Given the description of an element on the screen output the (x, y) to click on. 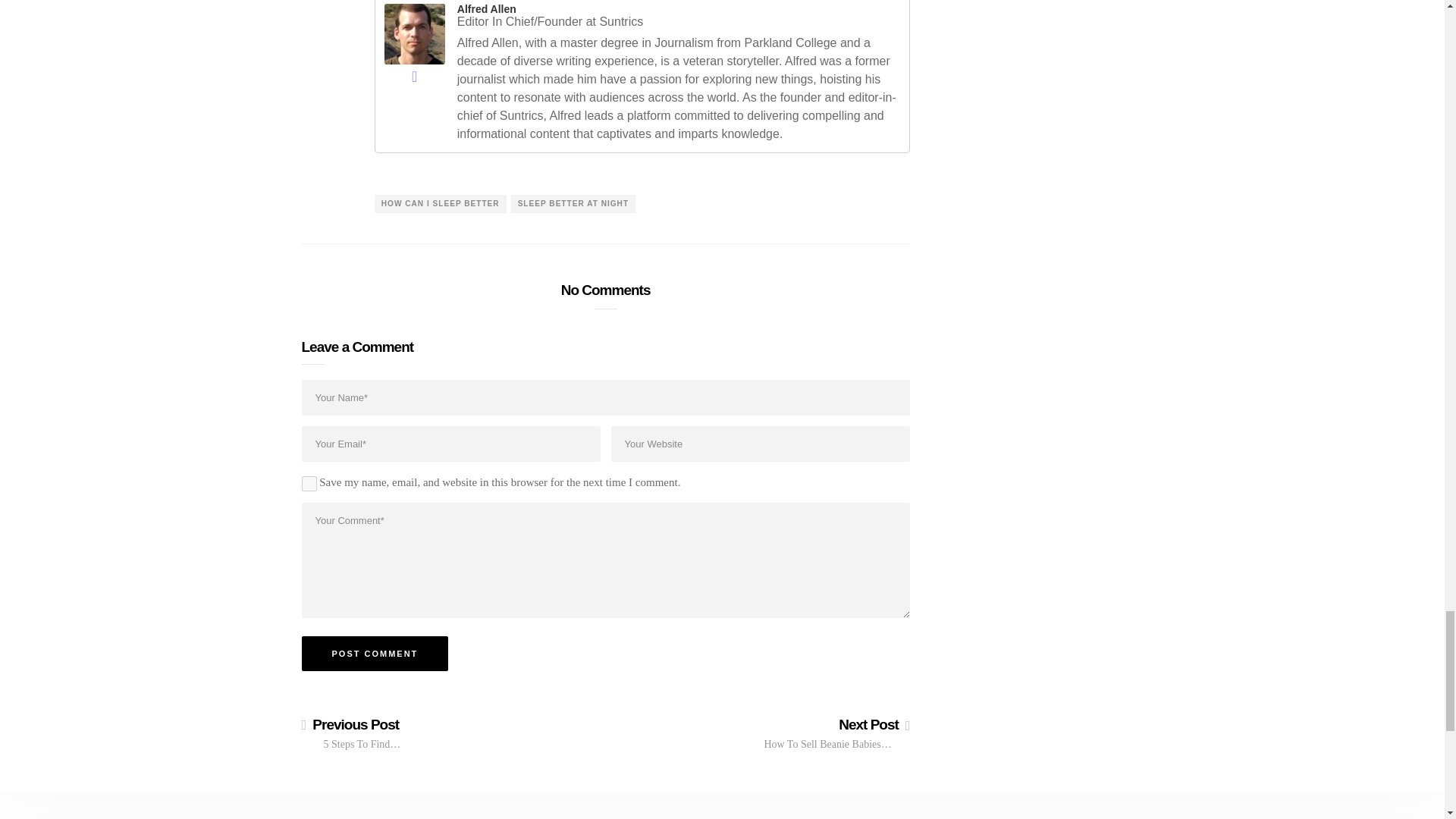
yes (309, 483)
Alfred Allen (414, 32)
Post Comment (374, 653)
Facebook (414, 76)
